Given the description of an element on the screen output the (x, y) to click on. 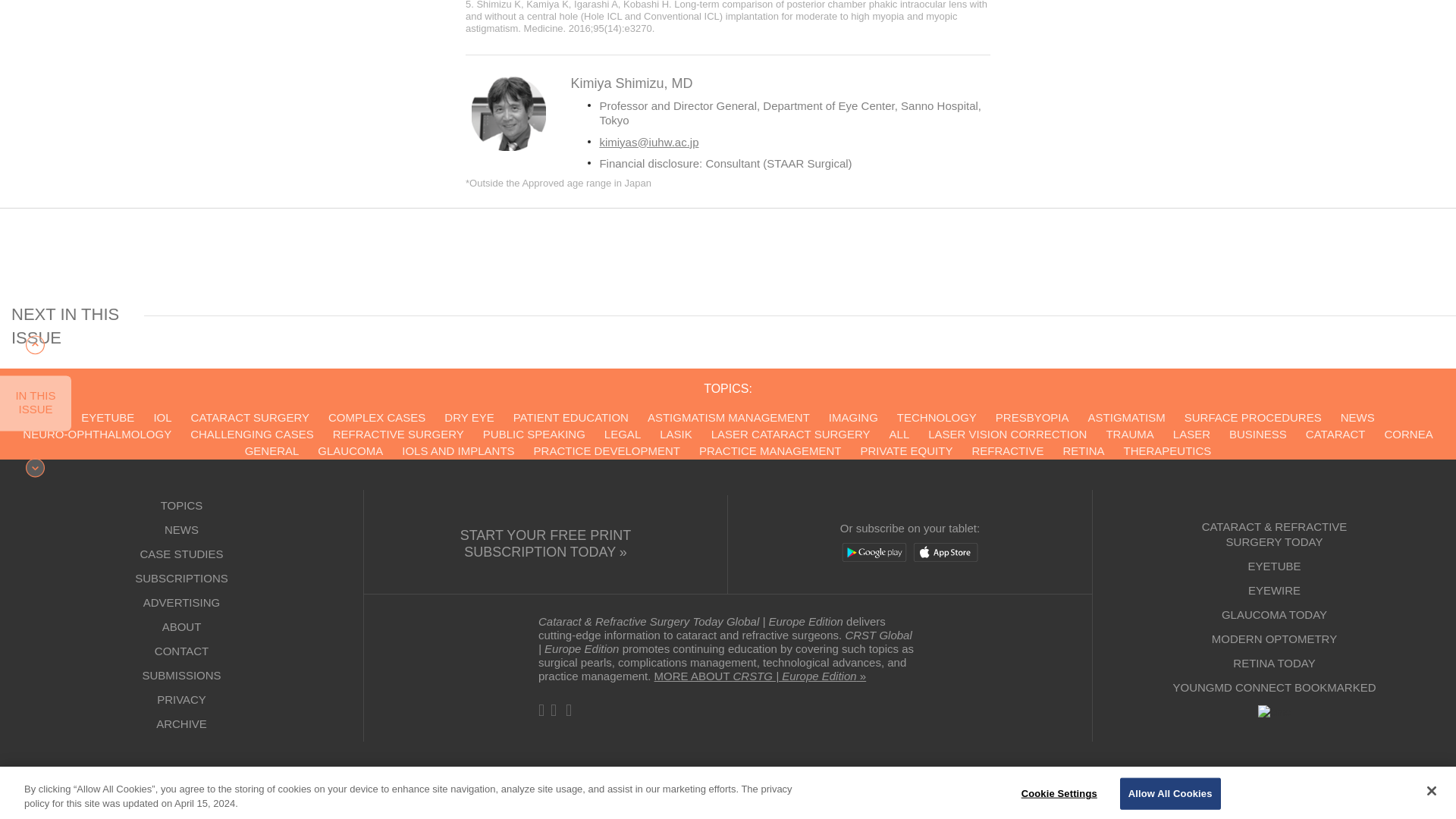
View all post filed under Imaging (852, 417)
View all post filed under Presbyopia (1031, 417)
View all post filed under Neuro-Ophthalmology (97, 433)
View all post filed under Dry Eye (468, 417)
View all post filed under Technology (936, 417)
View all post filed under Complex Cases (377, 417)
View all post filed under Cataract Surgery (249, 417)
View all post filed under Astigmatism (1126, 417)
View all post filed under Refractive Surgery (398, 433)
View all post filed under Challenging Cases (252, 433)
View all post filed under News (1357, 417)
View all post filed under Patient Education (570, 417)
View all post filed under Eyetube (107, 417)
View all post filed under Surface Procedures (1253, 417)
View all post filed under IOL (161, 417)
